Given the description of an element on the screen output the (x, y) to click on. 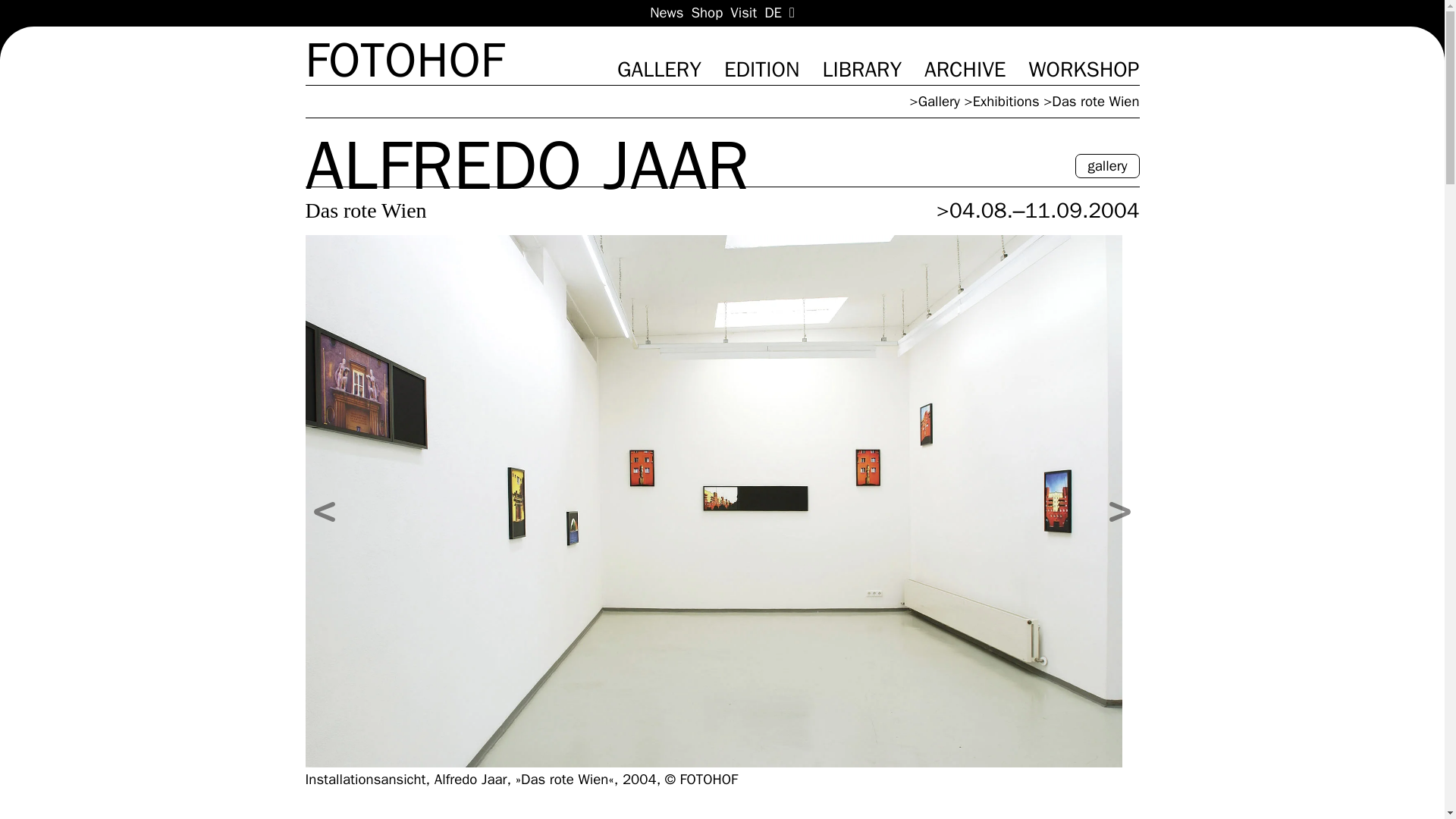
News (665, 13)
WORKSHOP (1082, 69)
FOTOHOF (403, 60)
ARCHIVE (975, 69)
DE (772, 12)
LIBRARY (873, 69)
EDITION (772, 69)
GALLERY (670, 69)
Shop (707, 13)
